Given the description of an element on the screen output the (x, y) to click on. 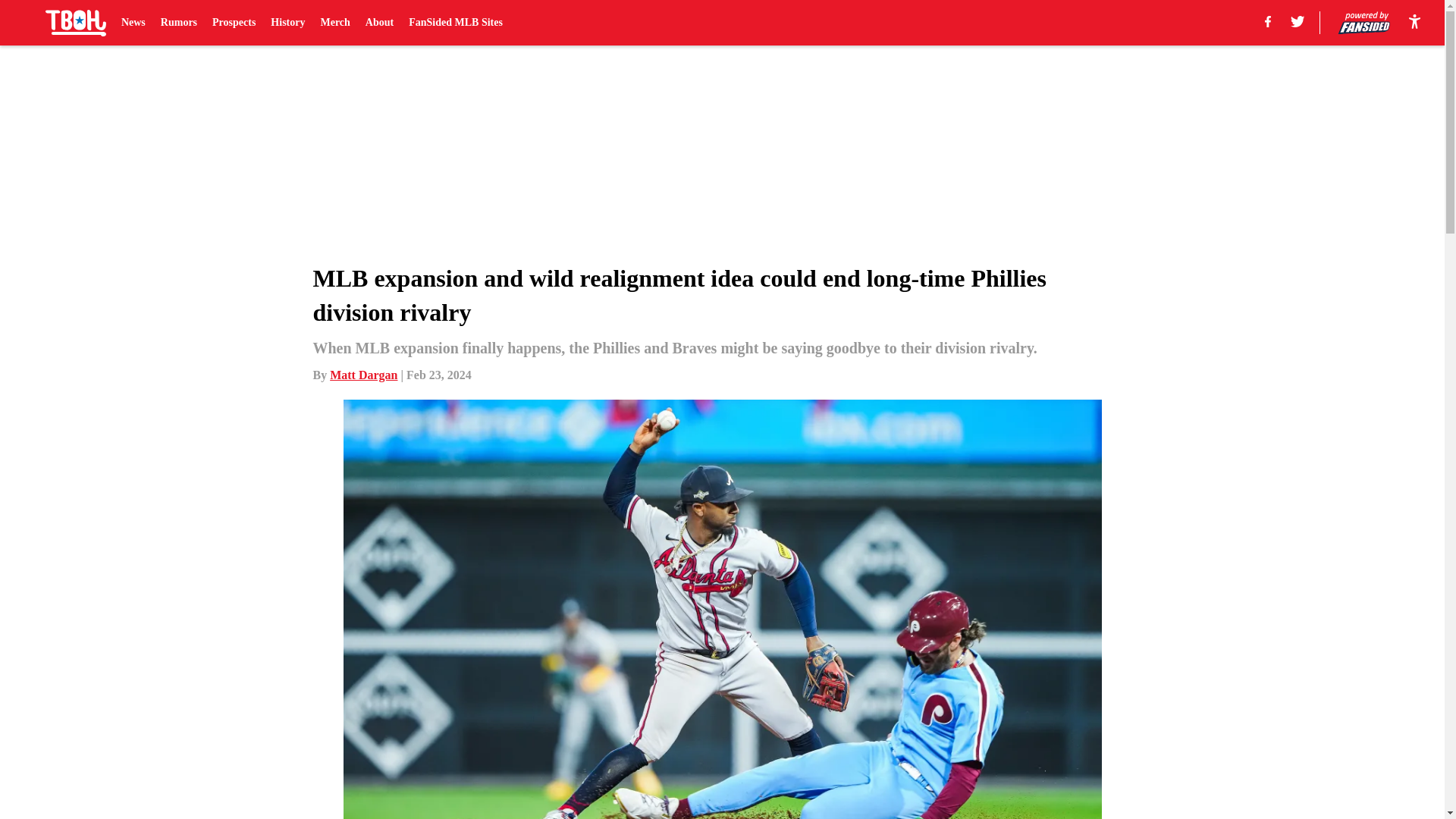
Rumors (178, 22)
FanSided MLB Sites (455, 22)
News (132, 22)
History (287, 22)
About (379, 22)
Merch (334, 22)
Matt Dargan (363, 374)
Prospects (234, 22)
